Given the description of an element on the screen output the (x, y) to click on. 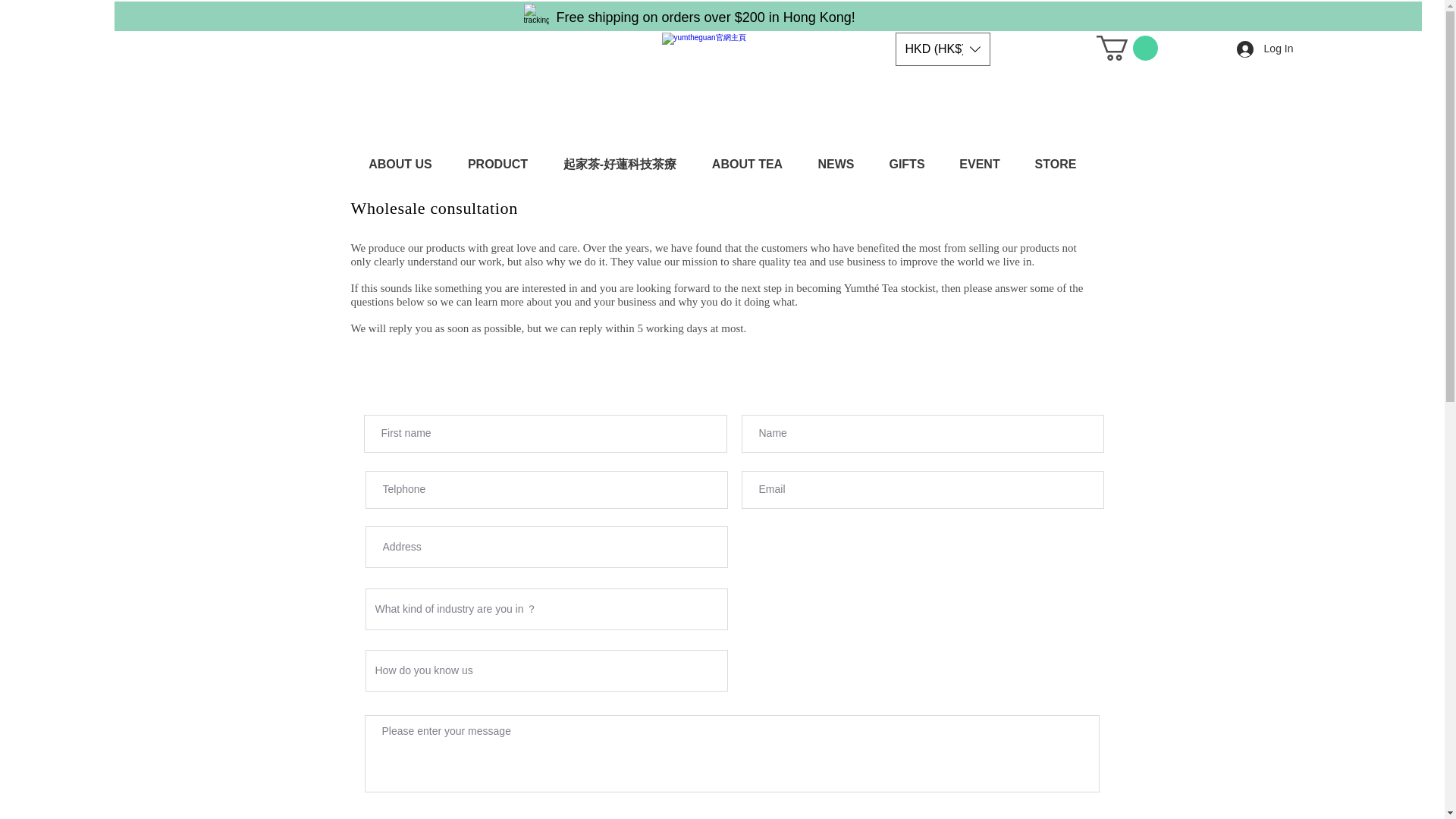
NEWS (836, 163)
ABOUT US (399, 163)
ABOUT TEA (747, 163)
GIFTS (907, 163)
STORE (1055, 163)
EVENT (979, 163)
PRODUCT (497, 163)
Log In (1264, 49)
